Given the description of an element on the screen output the (x, y) to click on. 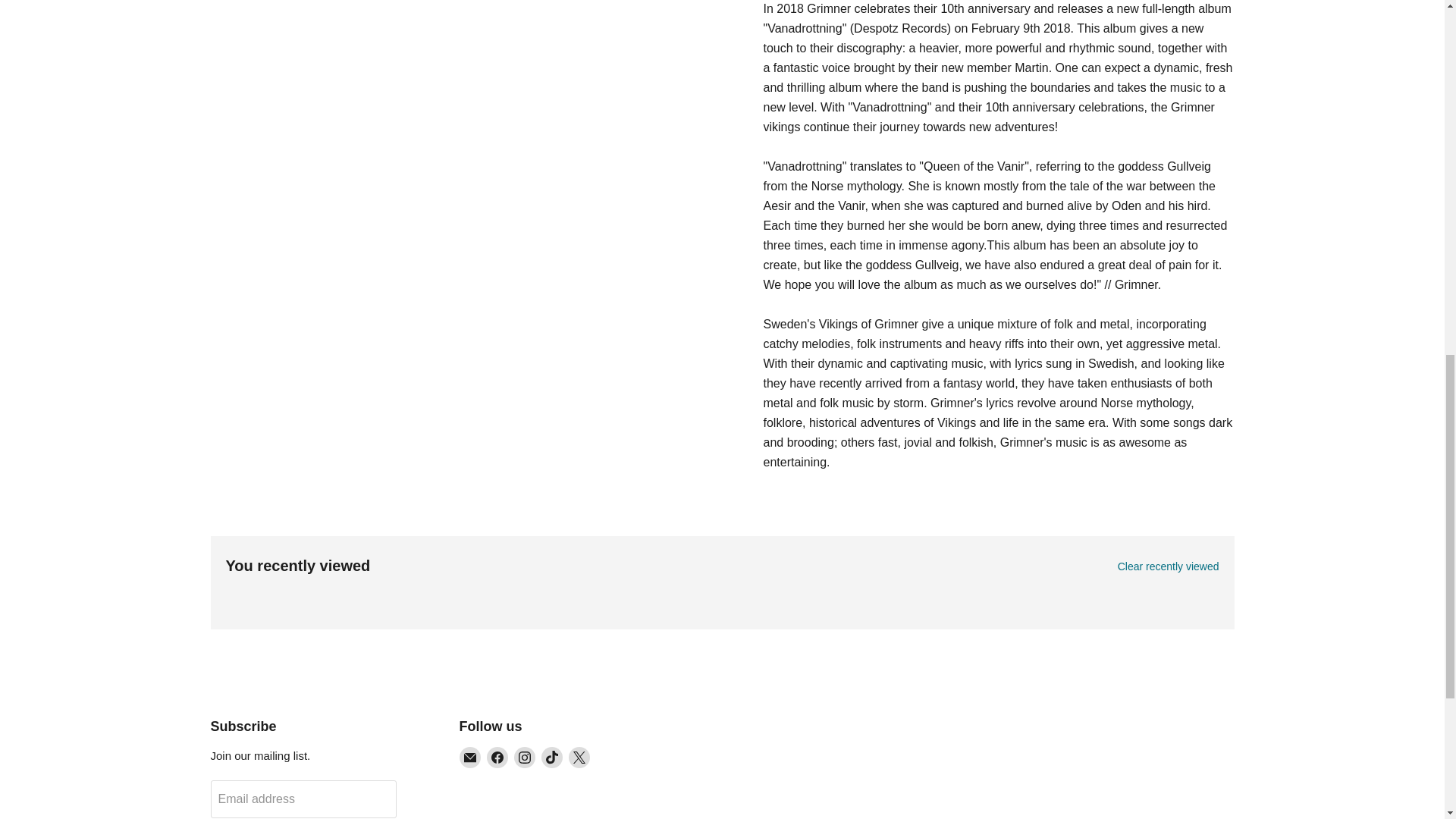
Instagram (524, 757)
Facebook (497, 757)
TikTok (551, 757)
E-mail (470, 757)
X (579, 757)
